Given the description of an element on the screen output the (x, y) to click on. 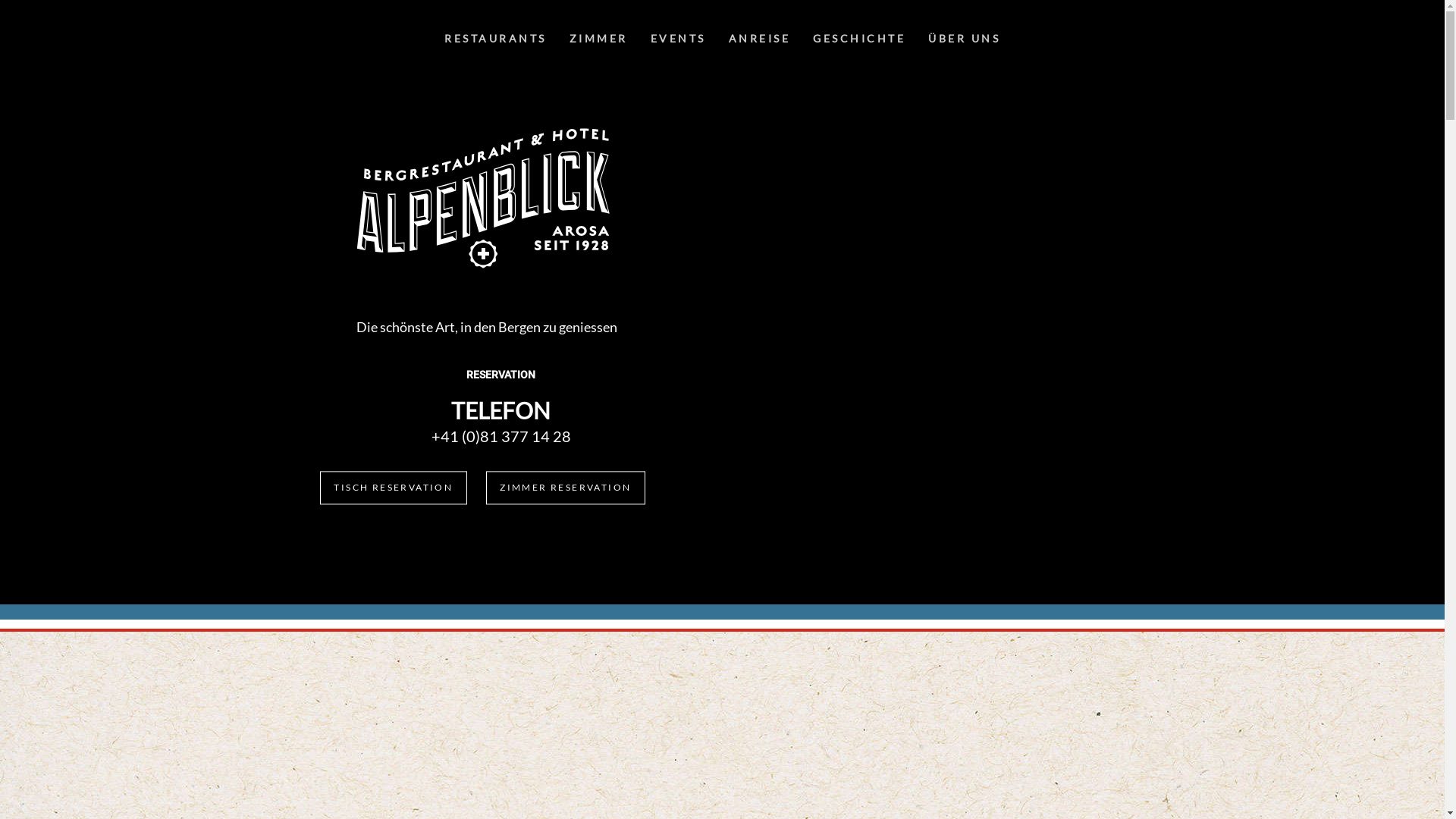
GESCHICHTE Element type: text (858, 38)
EVENTS Element type: text (677, 38)
ZIMMER RESERVATION Element type: text (564, 487)
TISCH RESERVATION Element type: text (392, 487)
RESTAURANTS Element type: text (495, 38)
ANREISE Element type: text (759, 38)
ZIMMER Element type: text (598, 38)
